Given the description of an element on the screen output the (x, y) to click on. 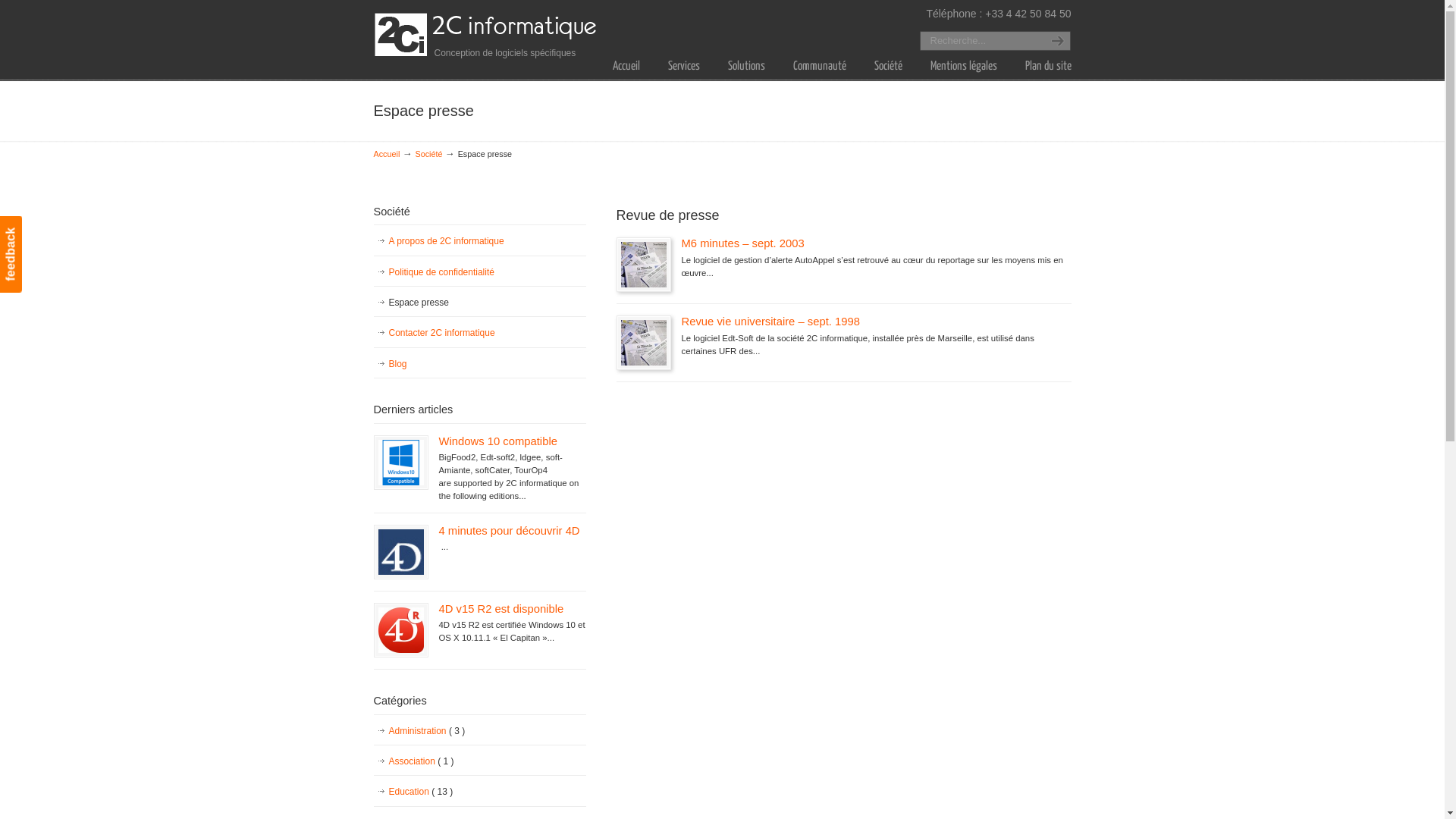
Administration ( 3 ) Element type: text (479, 730)
search Element type: text (1055, 40)
Solutions Element type: text (746, 66)
Plan du site Element type: text (1048, 66)
Espace presse Element type: text (479, 302)
Services Element type: text (683, 66)
Windows 10 compatible Element type: hover (400, 462)
Blog Element type: text (479, 363)
Association ( 1 ) Element type: text (479, 761)
2C informatique Element type: text (486, 34)
Contacter 2C informatique Element type: text (479, 332)
4D v15 R2 est disponible Element type: hover (400, 629)
Accueil Element type: text (386, 153)
Windows 10 compatible Element type: text (497, 441)
Accueil Element type: text (626, 66)
Education ( 13 ) Element type: text (479, 791)
4D v15 R2 est disponible Element type: text (500, 608)
A propos de 2C informatique Element type: text (479, 240)
